Given the description of an element on the screen output the (x, y) to click on. 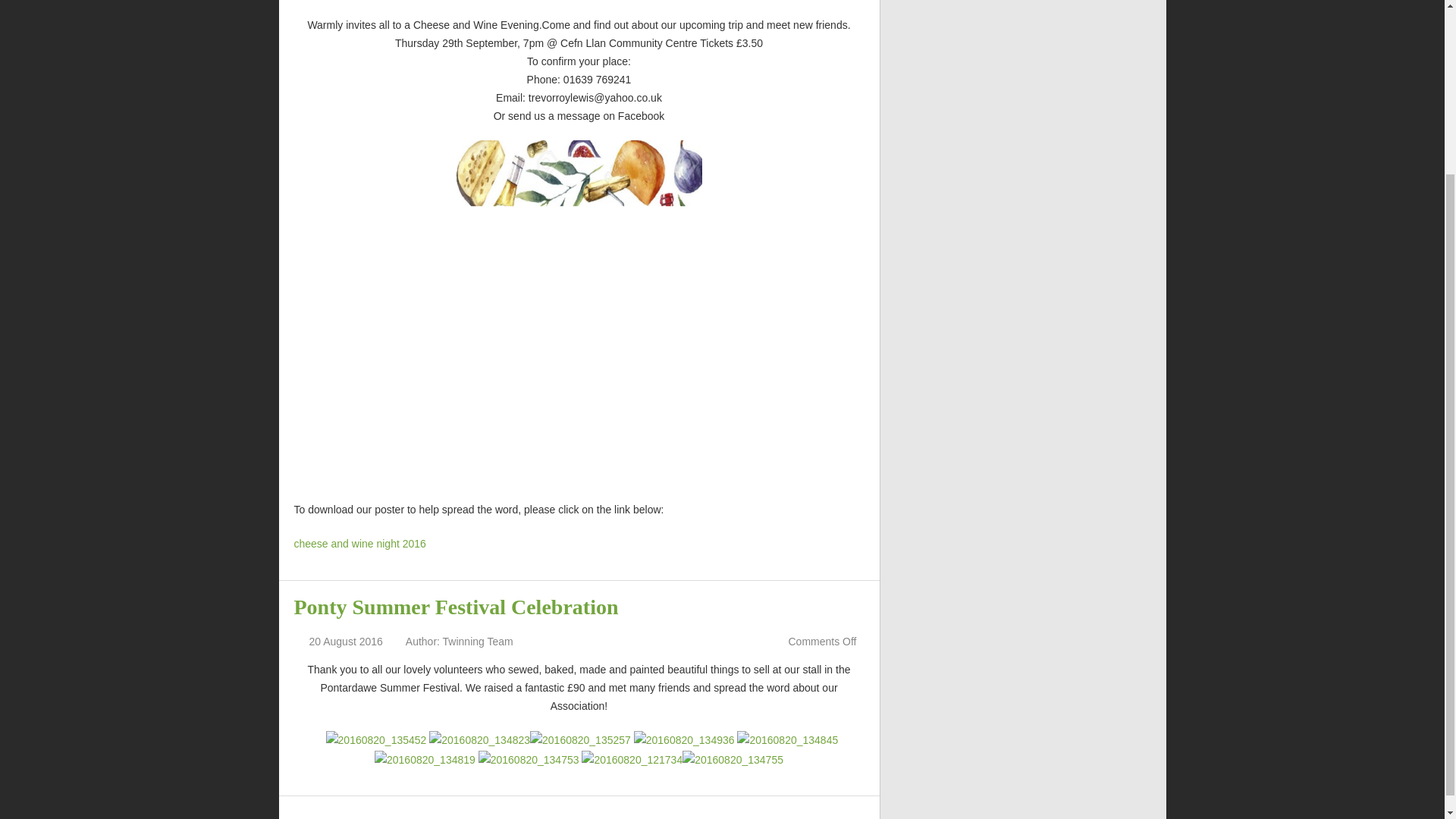
Ponty Summer Festival Celebration (456, 607)
Ponty Summer Festival Celebration (456, 607)
cheese and wine night 2016 (360, 543)
